Given the description of an element on the screen output the (x, y) to click on. 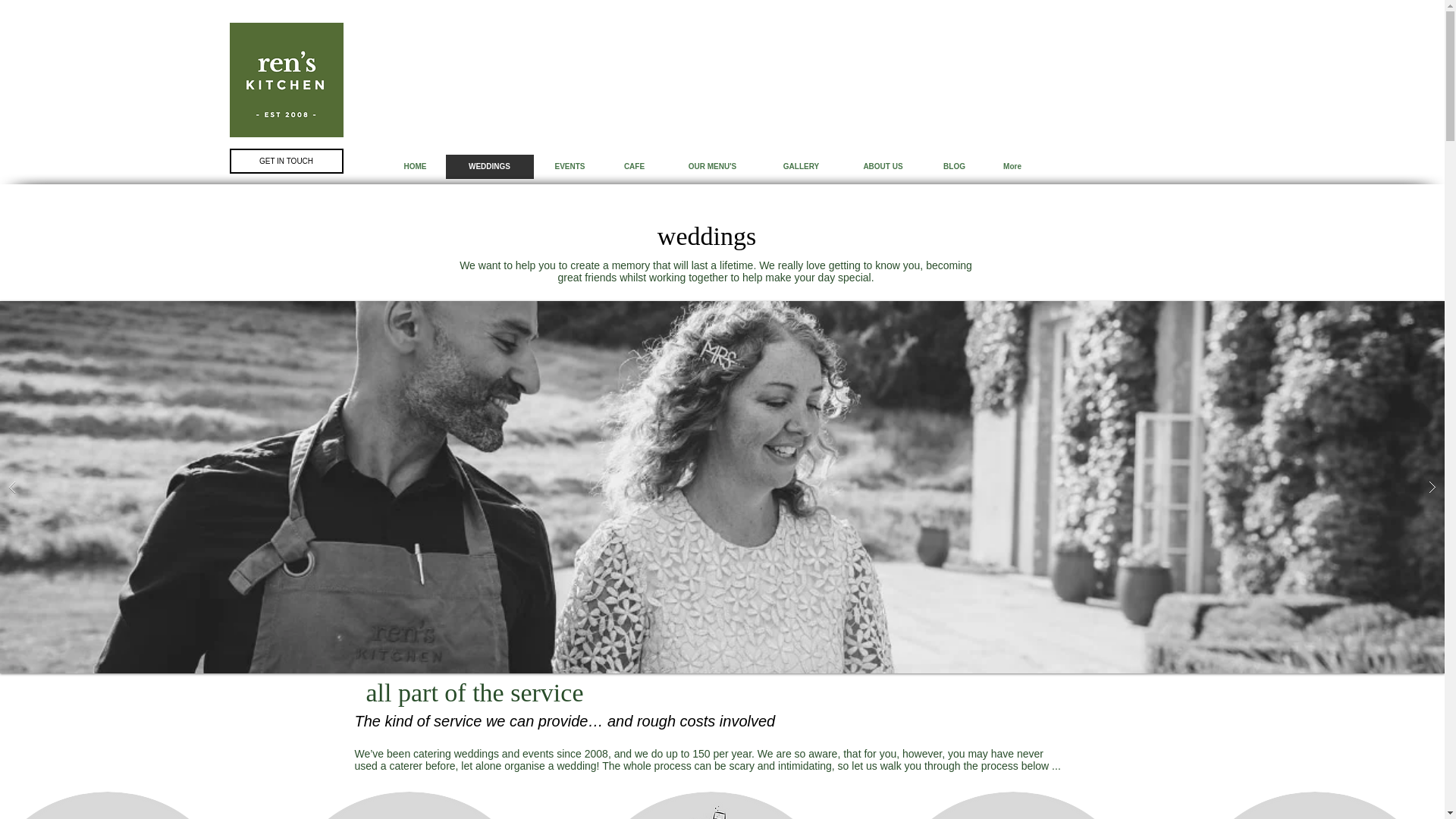
ABOUT US (883, 166)
GET IN TOUCH (285, 160)
BLOG (952, 166)
HOME (414, 166)
OUR MENU'S (711, 166)
GALLERY (800, 166)
WEDDINGS (488, 166)
EVENTS (569, 166)
CAFE (633, 166)
